Given the description of an element on the screen output the (x, y) to click on. 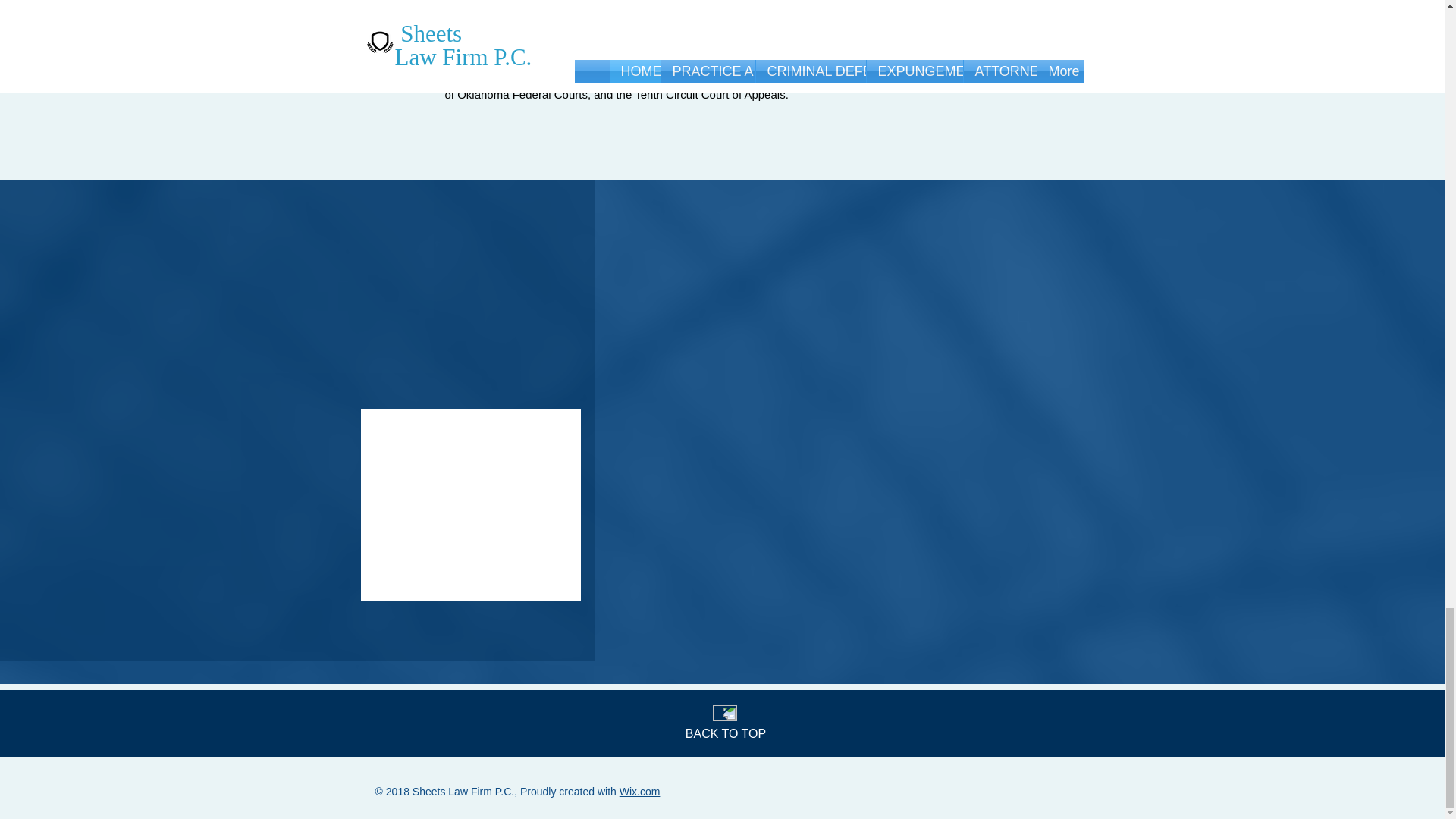
Wix.com (640, 791)
BACK TO TOP (725, 733)
